Given the description of an element on the screen output the (x, y) to click on. 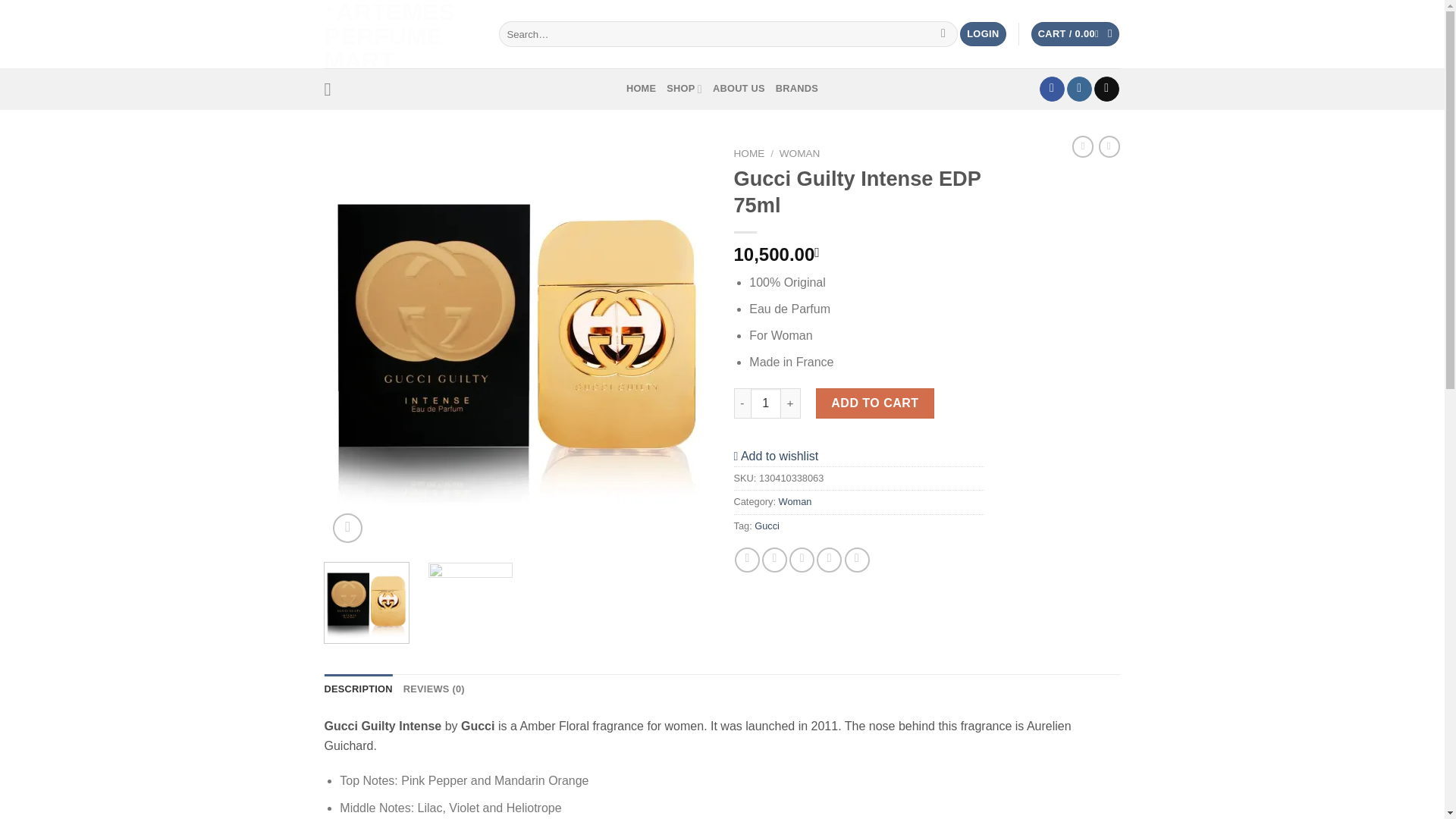
1 (765, 403)
Artemes Perfume Mart - Home of Luxury Fragrances (400, 33)
Cart (1074, 34)
BRANDS (797, 88)
Follow on Instagram (1079, 89)
HOME (749, 153)
ABOUT US (739, 88)
HOME (641, 88)
